Given the description of an element on the screen output the (x, y) to click on. 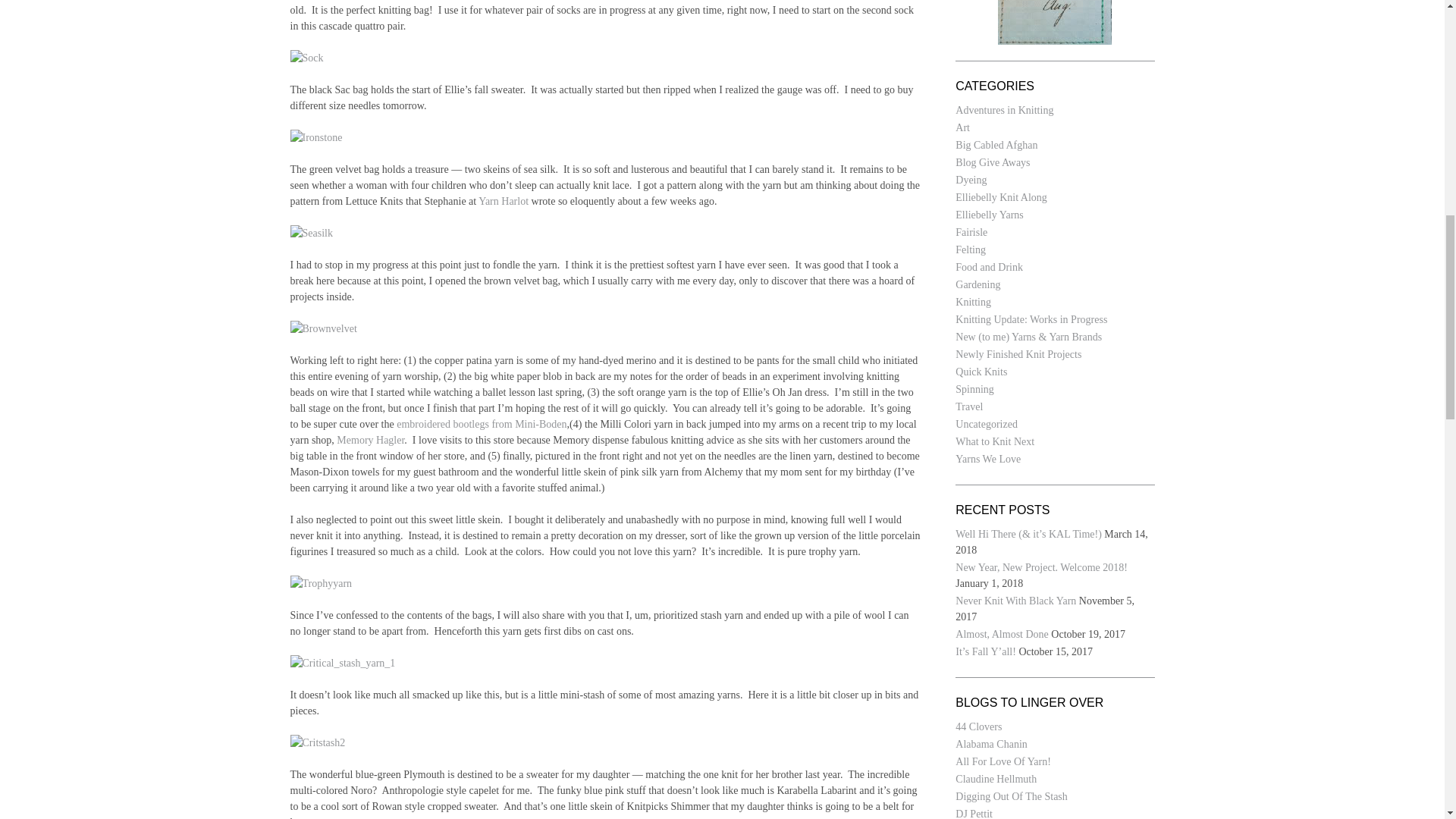
Ironstone (315, 137)
Sock (306, 57)
Yarn Harlot (503, 201)
embroidered bootlegs from Mini-Boden (481, 423)
Memory Hagler (370, 439)
Trophyyarn (320, 583)
Seasilk (310, 232)
Brownvelvet (322, 328)
